Given the description of an element on the screen output the (x, y) to click on. 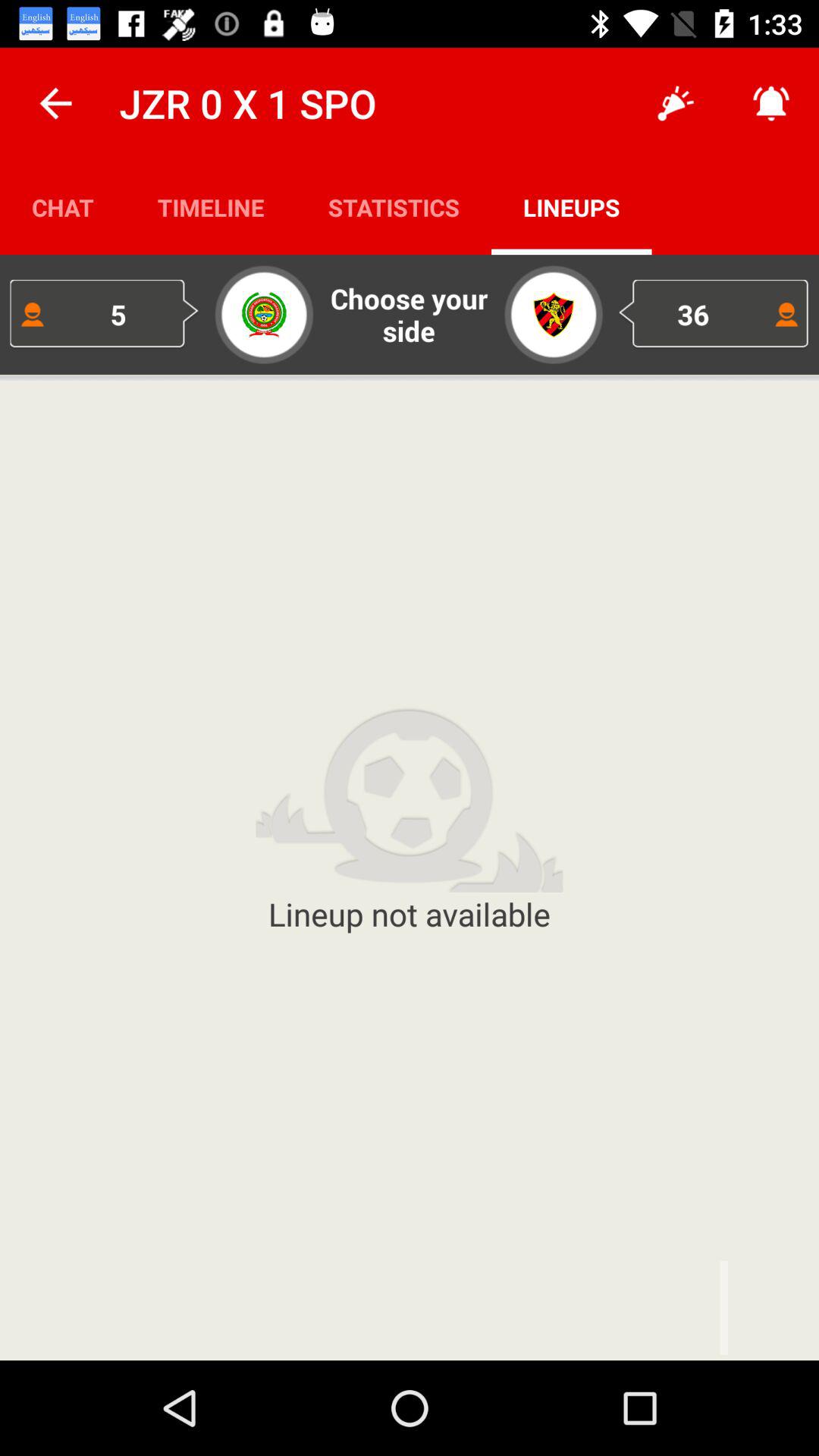
scroll until the 36  radio button (713, 314)
